Given the description of an element on the screen output the (x, y) to click on. 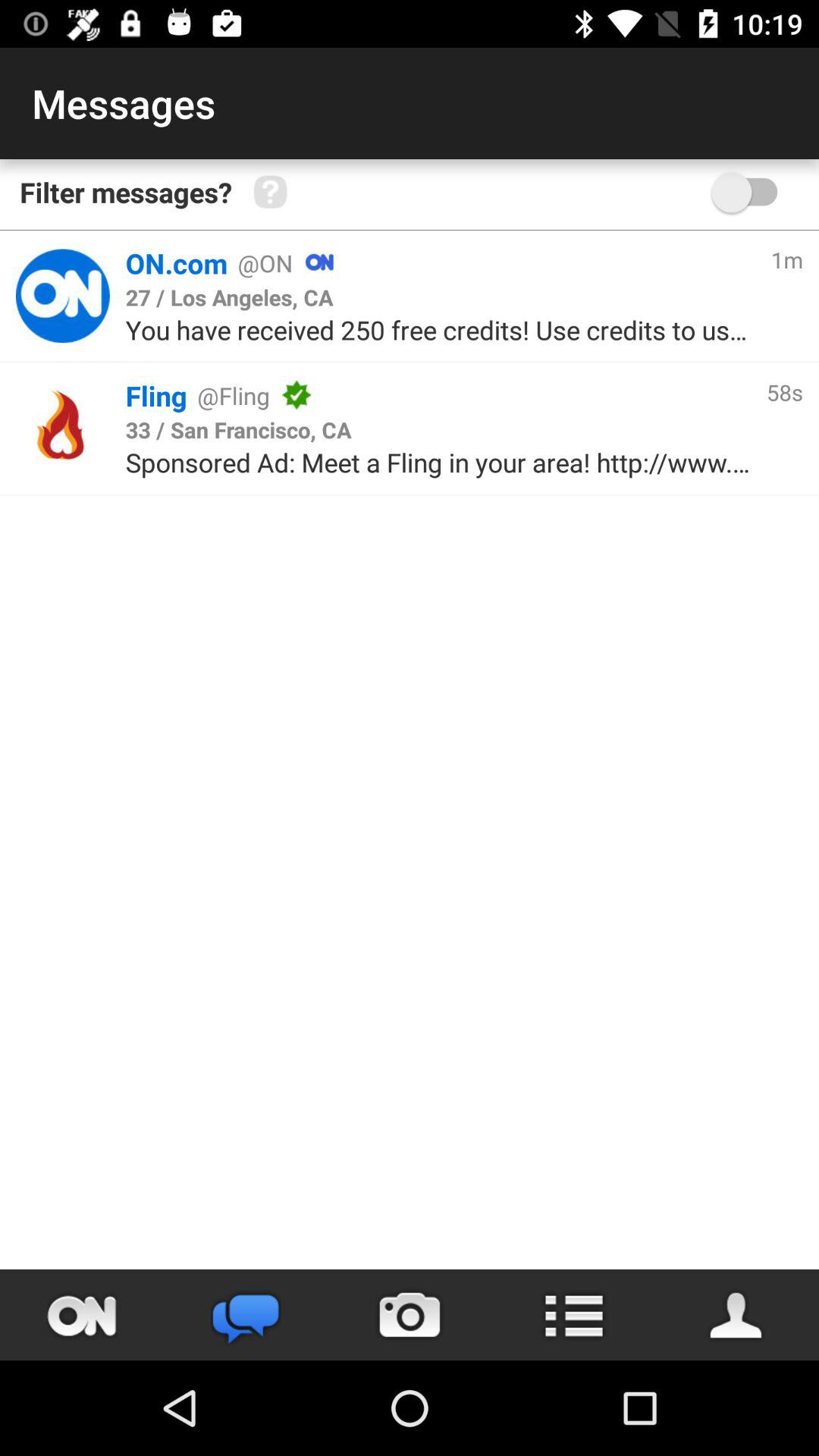
it saying the app (62, 295)
